Given the description of an element on the screen output the (x, y) to click on. 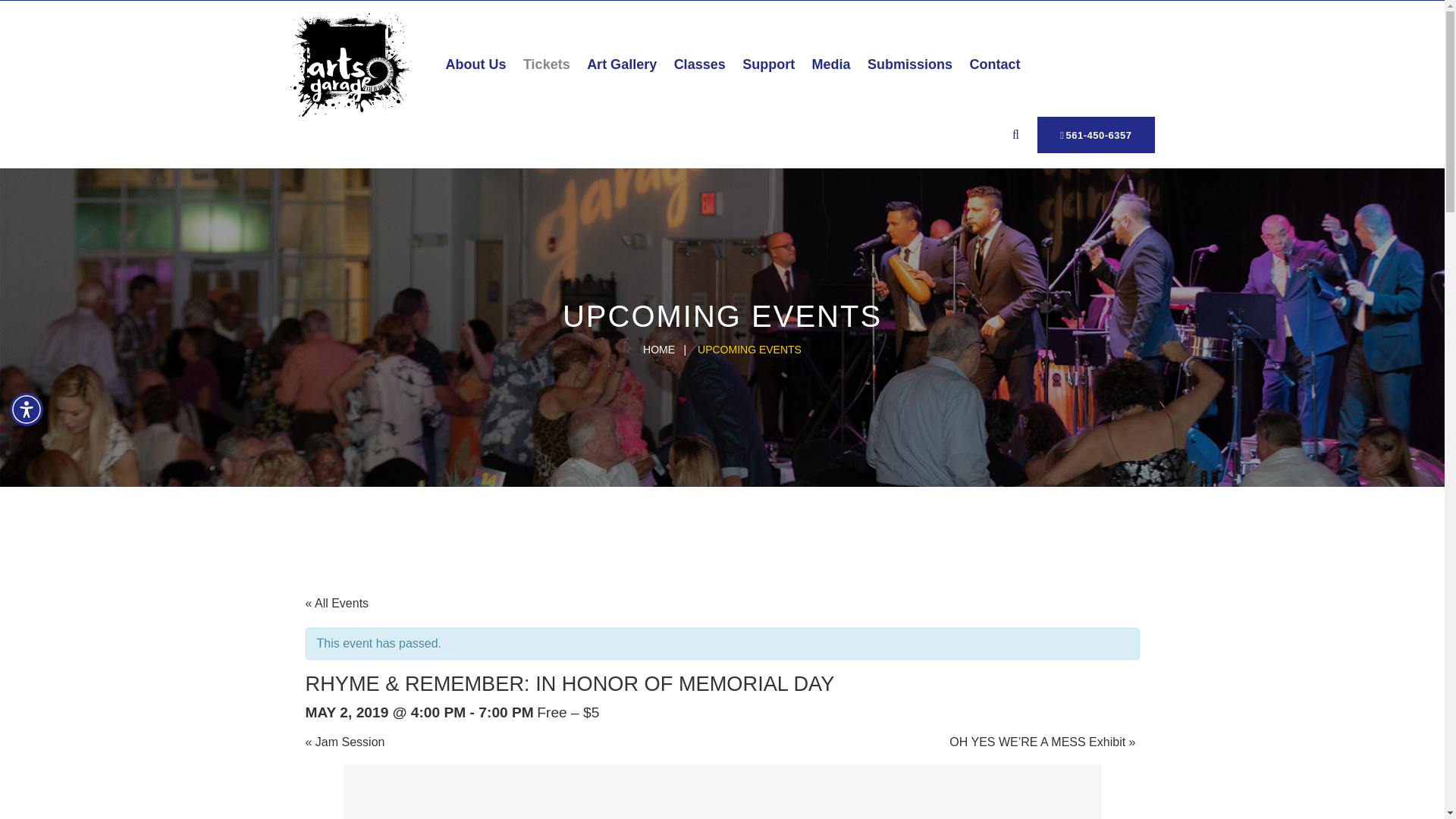
Accessibility Menu (26, 409)
